Given the description of an element on the screen output the (x, y) to click on. 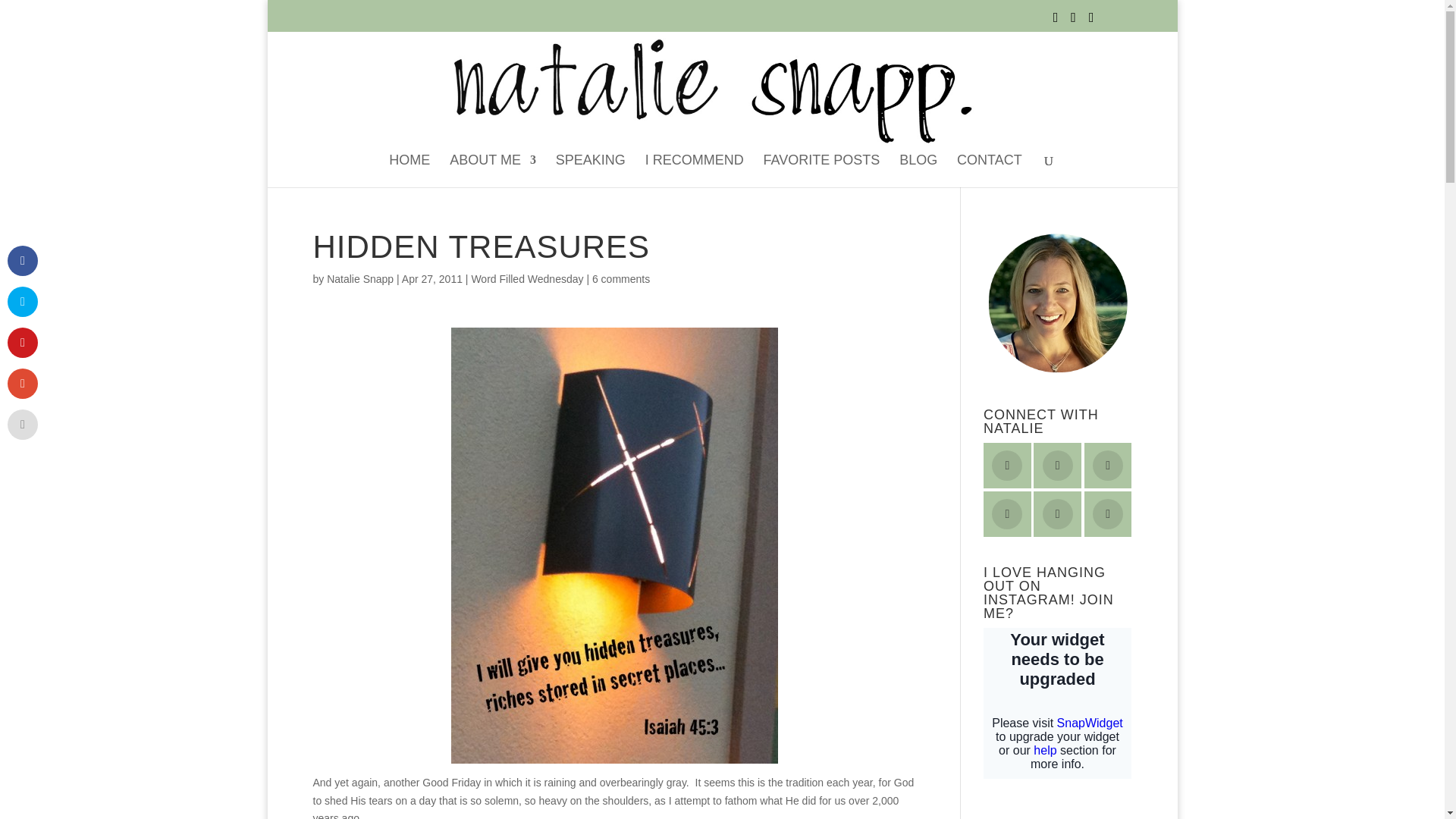
SPEAKING (591, 170)
HOME (408, 170)
FAVORITE POSTS (821, 170)
Natalie Snapp (359, 278)
Instagram Widget (1057, 703)
I RECOMMEND (694, 170)
CONTACT (989, 170)
BLOG (918, 170)
Posts by Natalie Snapp (359, 278)
ABOUT ME (492, 170)
